Given the description of an element on the screen output the (x, y) to click on. 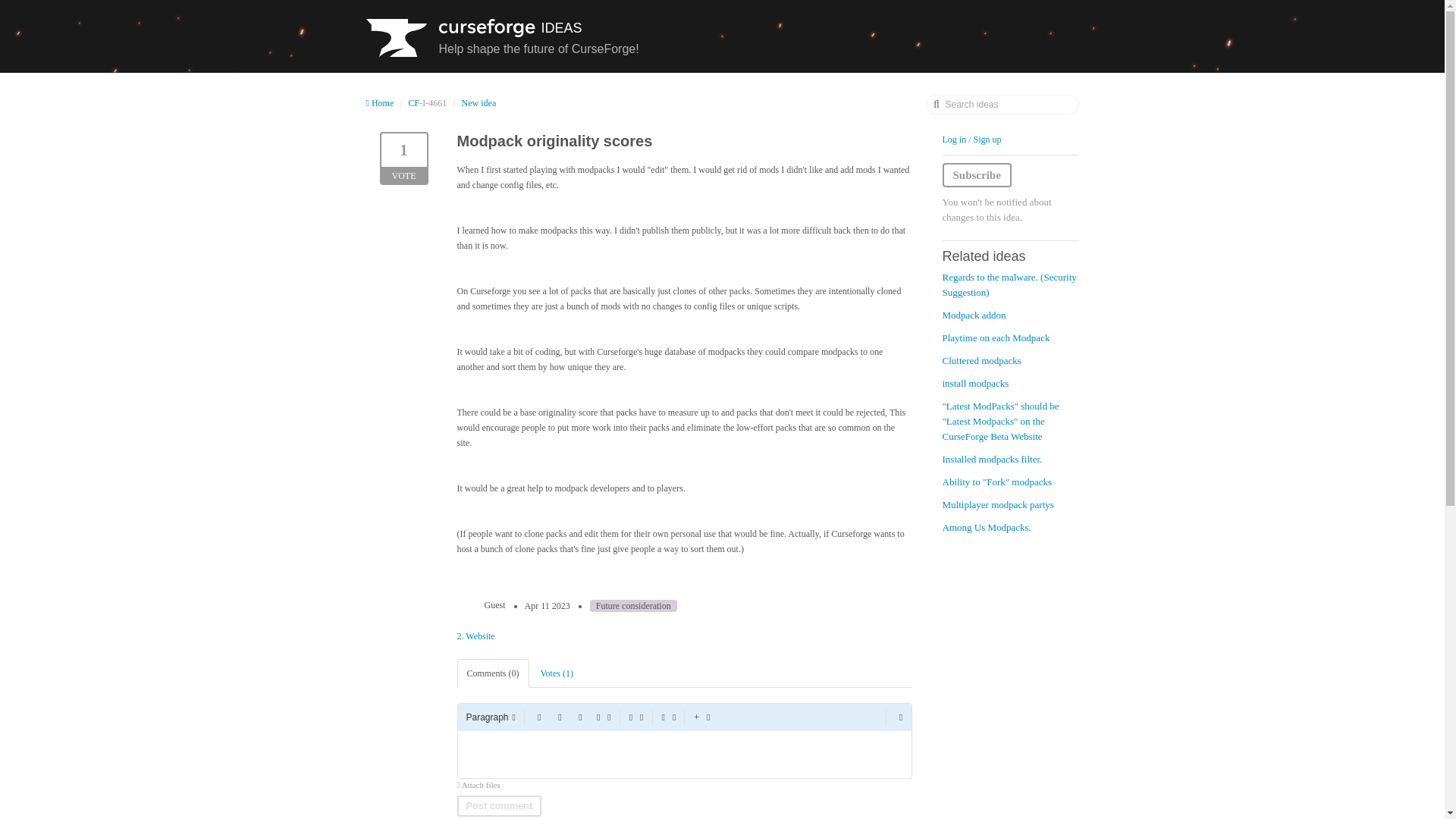
install modpacks (975, 383)
CF (414, 102)
Post comment (403, 158)
Home (499, 805)
Paragraph (380, 102)
2. Website (502, 39)
Post comment (490, 717)
Playtime on each Modpack (476, 635)
New idea (499, 805)
Among Us Modpacks. (995, 337)
Multiplayer modpack partys (478, 102)
Cluttered modpacks (986, 527)
